Given the description of an element on the screen output the (x, y) to click on. 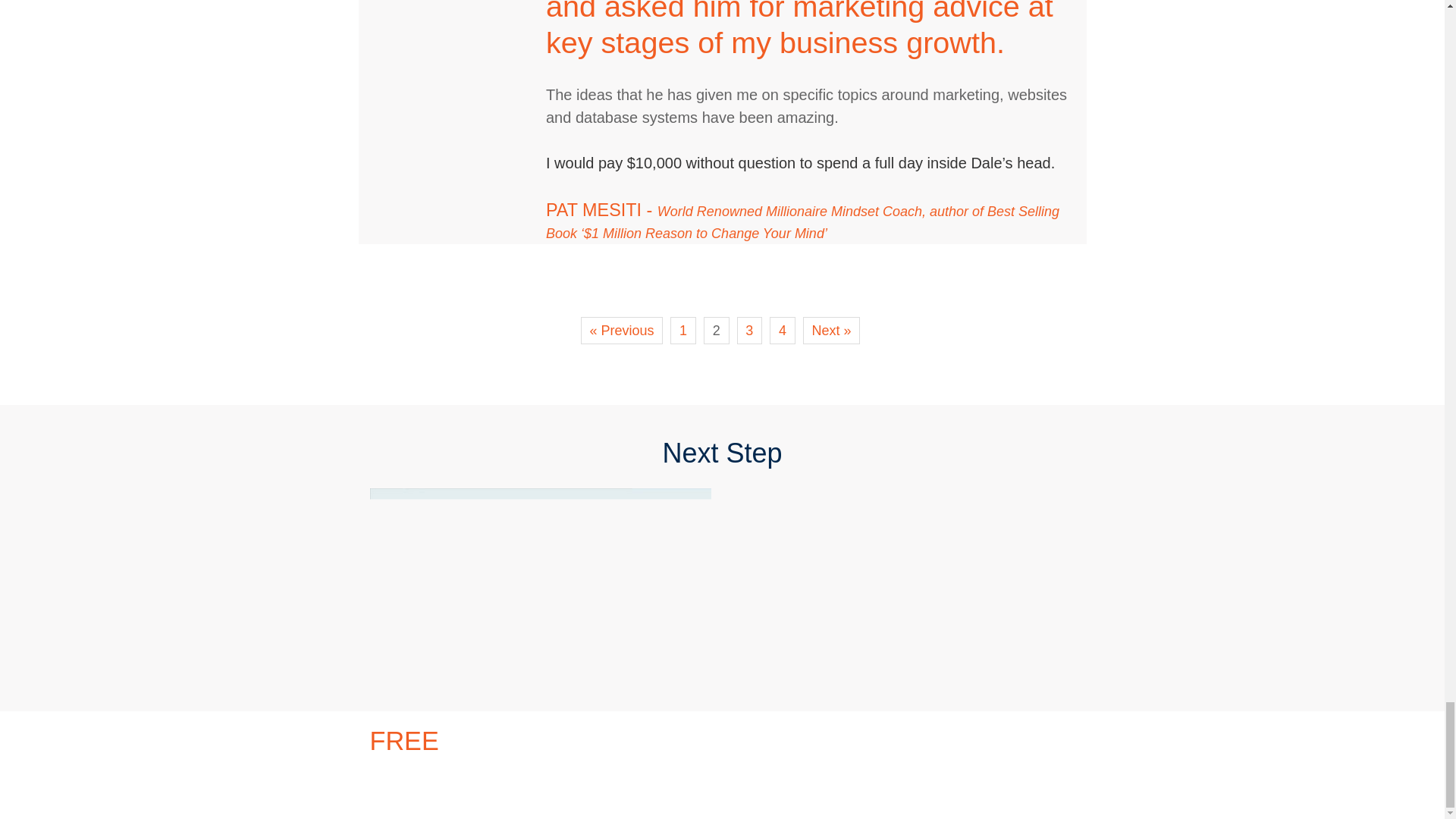
3 (749, 329)
4 (782, 329)
1 (682, 329)
